Given the description of an element on the screen output the (x, y) to click on. 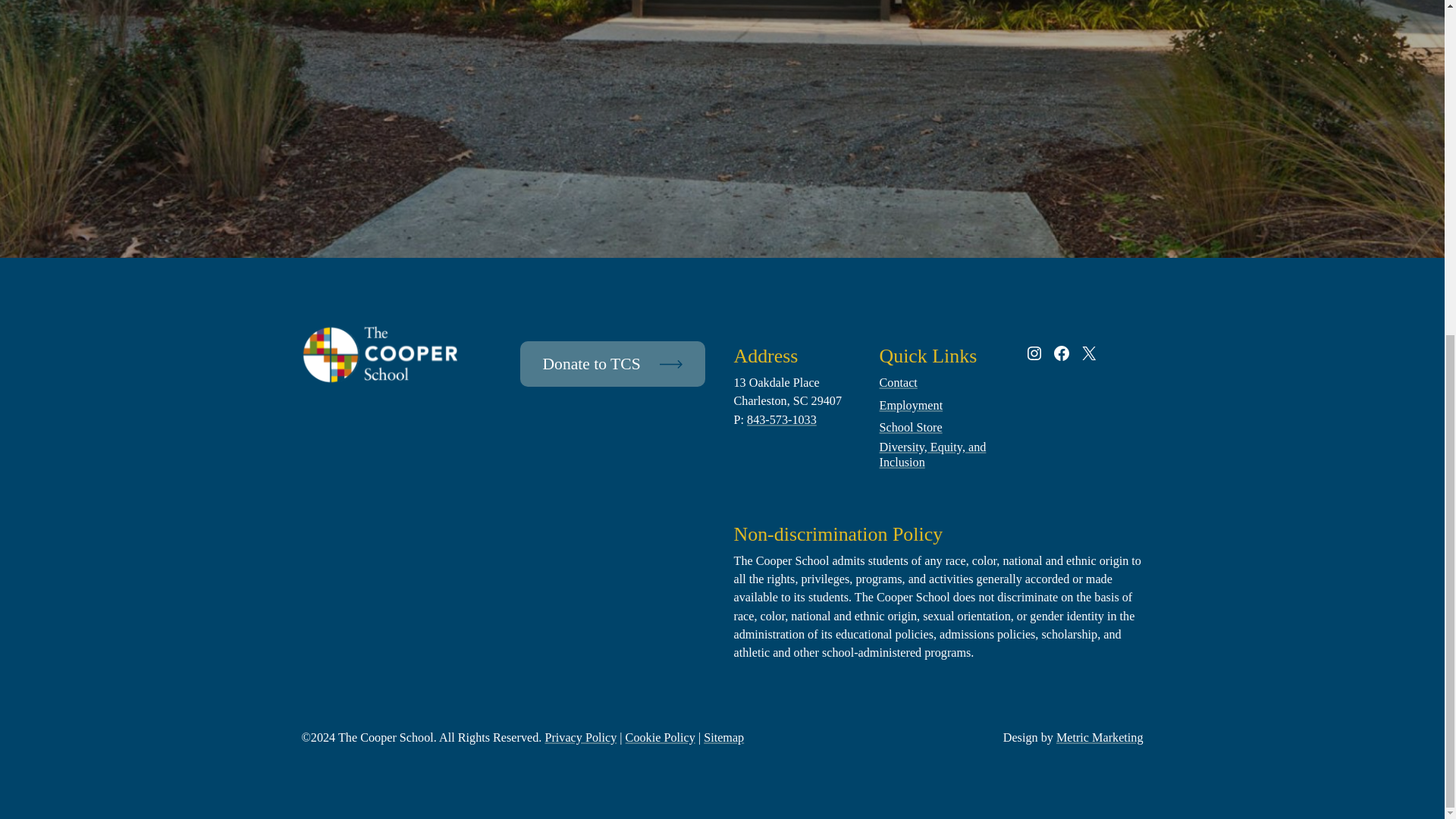
Privacy Policy  (579, 738)
Cookie Policy  (660, 738)
